Given the description of an element on the screen output the (x, y) to click on. 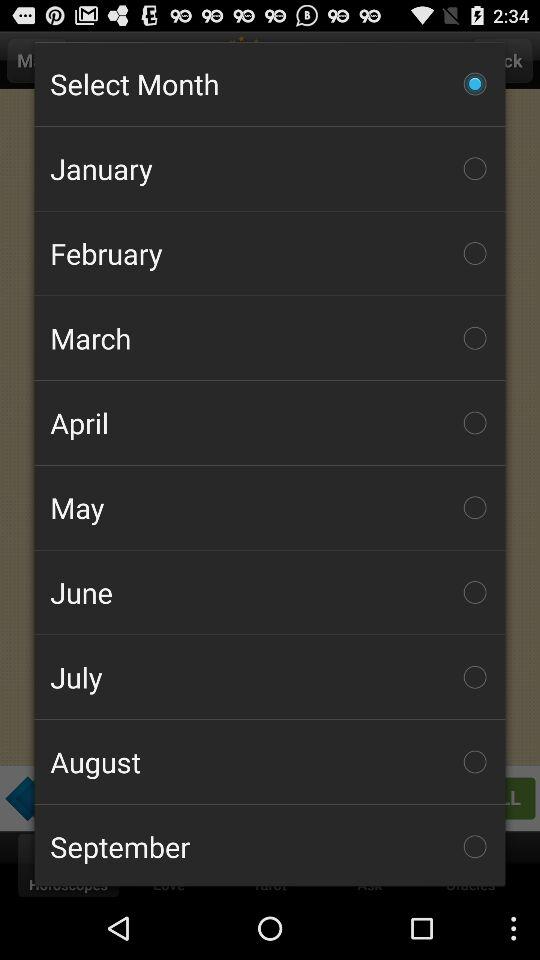
tap the january checkbox (269, 168)
